Given the description of an element on the screen output the (x, y) to click on. 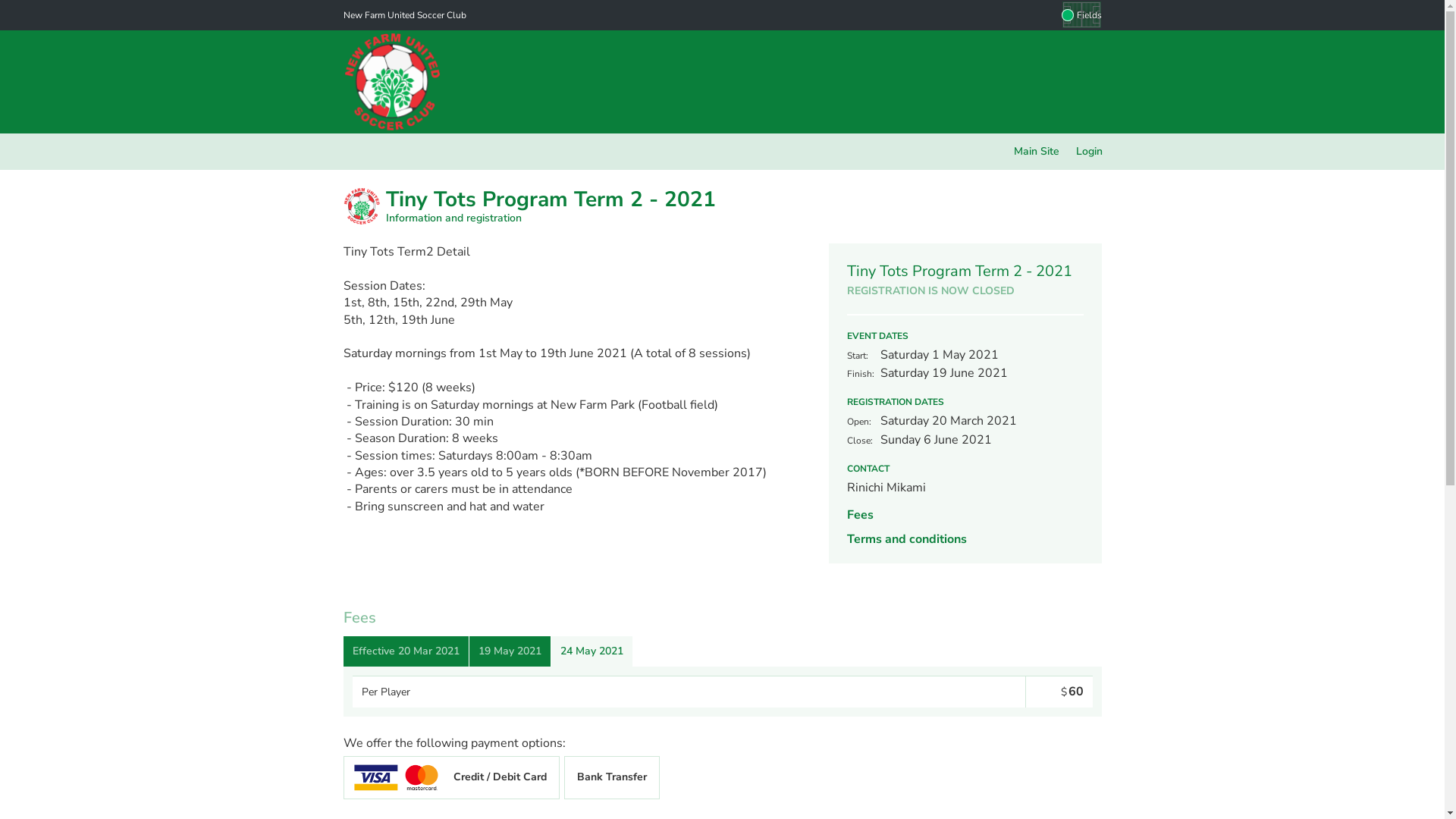
24 May 2021 Element type: text (590, 651)
Terms and conditions Element type: text (906, 539)
Main Site Element type: text (1036, 151)
Fees Element type: text (859, 514)
Effective 20 Mar 2021 Element type: text (404, 651)
19 May 2021 Element type: text (508, 651)
Login Element type: text (1088, 151)
New Farm United Soccer Club Element type: text (403, 15)
Fields Element type: text (1081, 15)
